Given the description of an element on the screen output the (x, y) to click on. 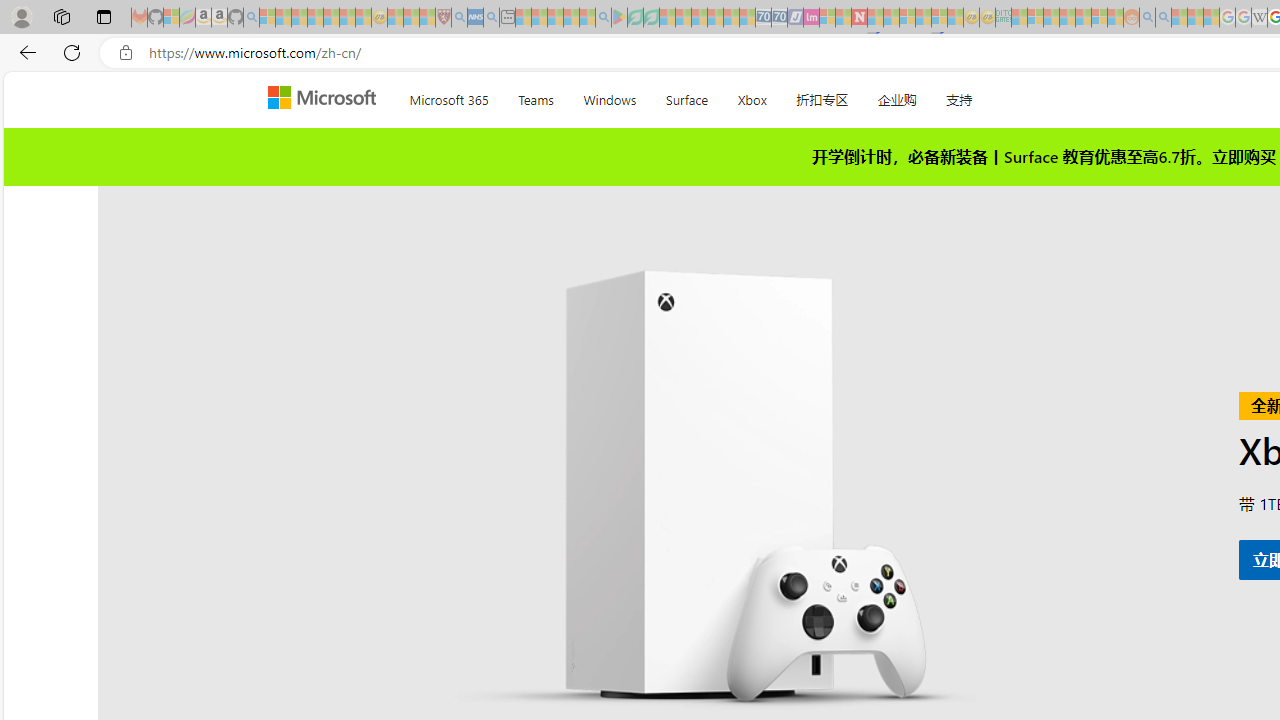
Robert H. Shmerling, MD - Harvard Health - Sleeping (443, 17)
Bluey: Let's Play! - Apps on Google Play - Sleeping (619, 17)
New tab - Sleeping (507, 17)
14 Common Myths Debunked By Scientific Facts - Sleeping (891, 17)
Microsoft 365 (448, 96)
Terms of Use Agreement - Sleeping (635, 17)
Cheap Car Rentals - Save70.com - Sleeping (763, 17)
Cheap Hotels - Save70.com - Sleeping (779, 17)
New Report Confirms 2023 Was Record Hot | Watch - Sleeping (331, 17)
MSNBC - MSN - Sleeping (1019, 17)
